Given the description of an element on the screen output the (x, y) to click on. 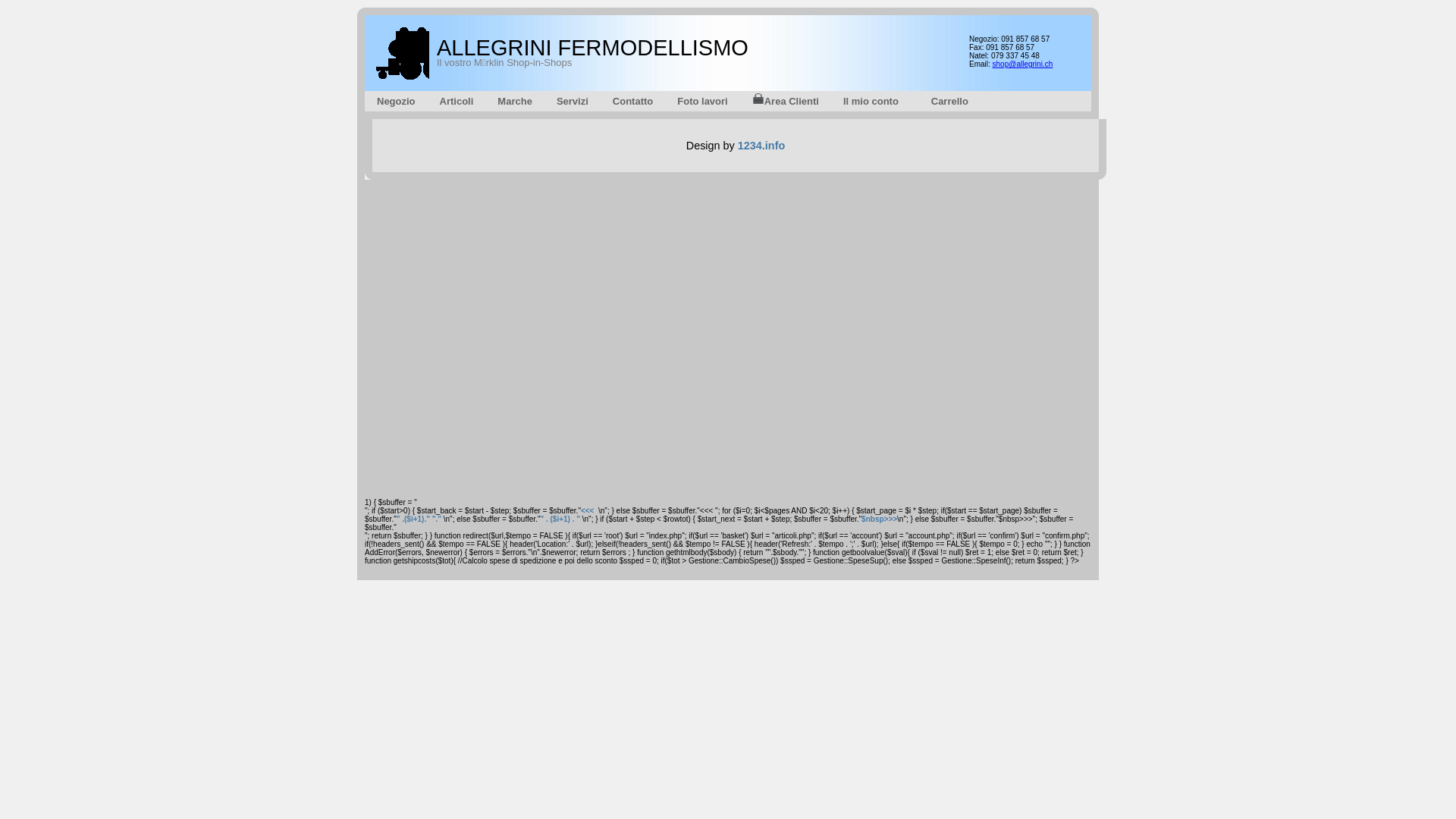
<<<  Element type: text (588, 510)
1234.info Element type: text (760, 145)
Negozio Element type: text (395, 101)
Marche Element type: text (514, 101)
Servizi Element type: text (572, 101)
Articoli Element type: text (456, 101)
Il mio conto Element type: text (870, 101)
shop@allegrini.ch Element type: text (1022, 63)
" .($i+1)." "." Element type: text (418, 518)
Area Clienti Element type: text (785, 101)
$nbsp>>> Element type: text (879, 518)
   Carrello Element type: text (945, 101)
Foto lavori Element type: text (702, 101)
" . ($i+1) . " Element type: text (559, 518)
Contatto Element type: text (632, 101)
